Given the description of an element on the screen output the (x, y) to click on. 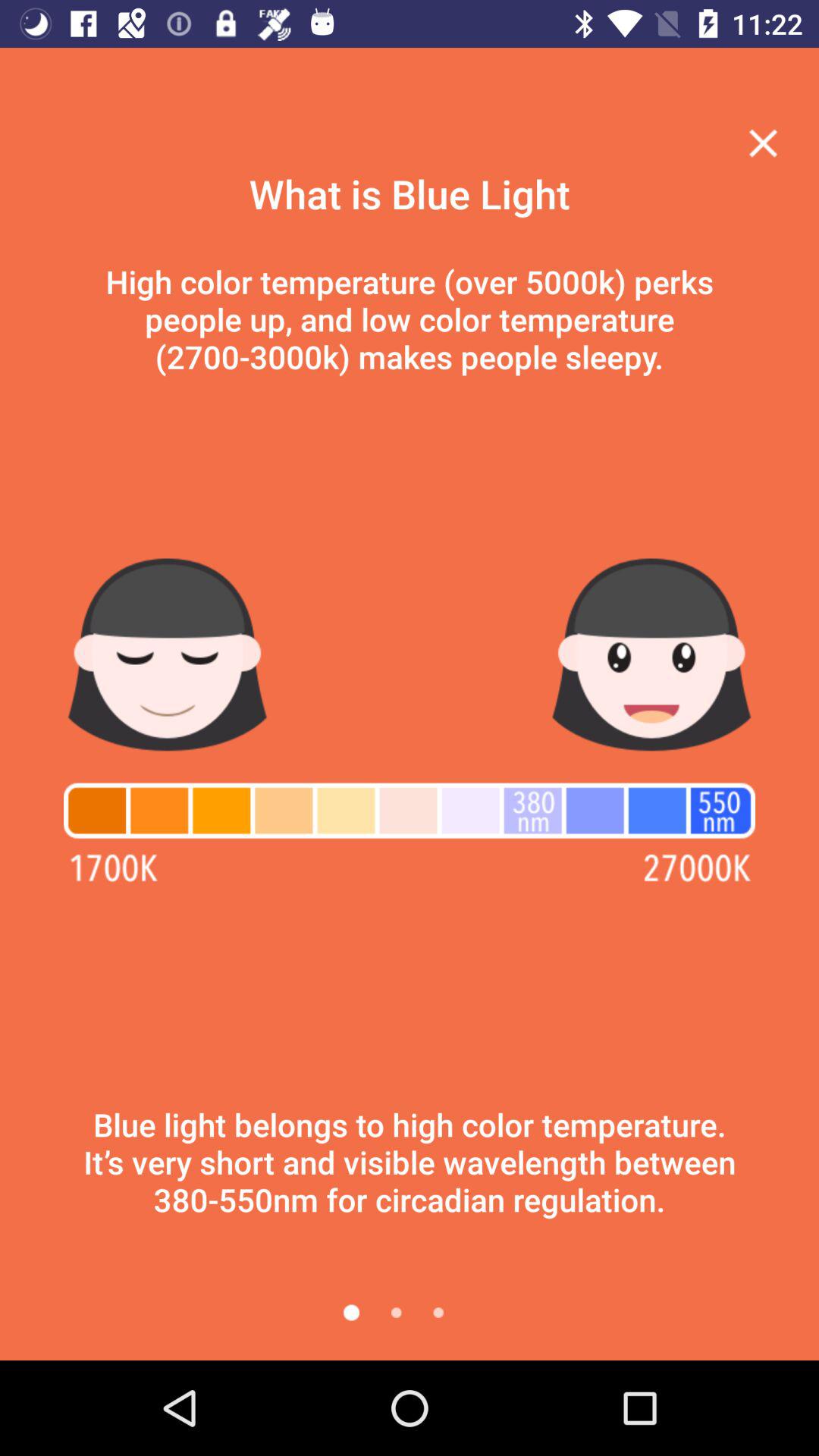
exit (763, 143)
